Given the description of an element on the screen output the (x, y) to click on. 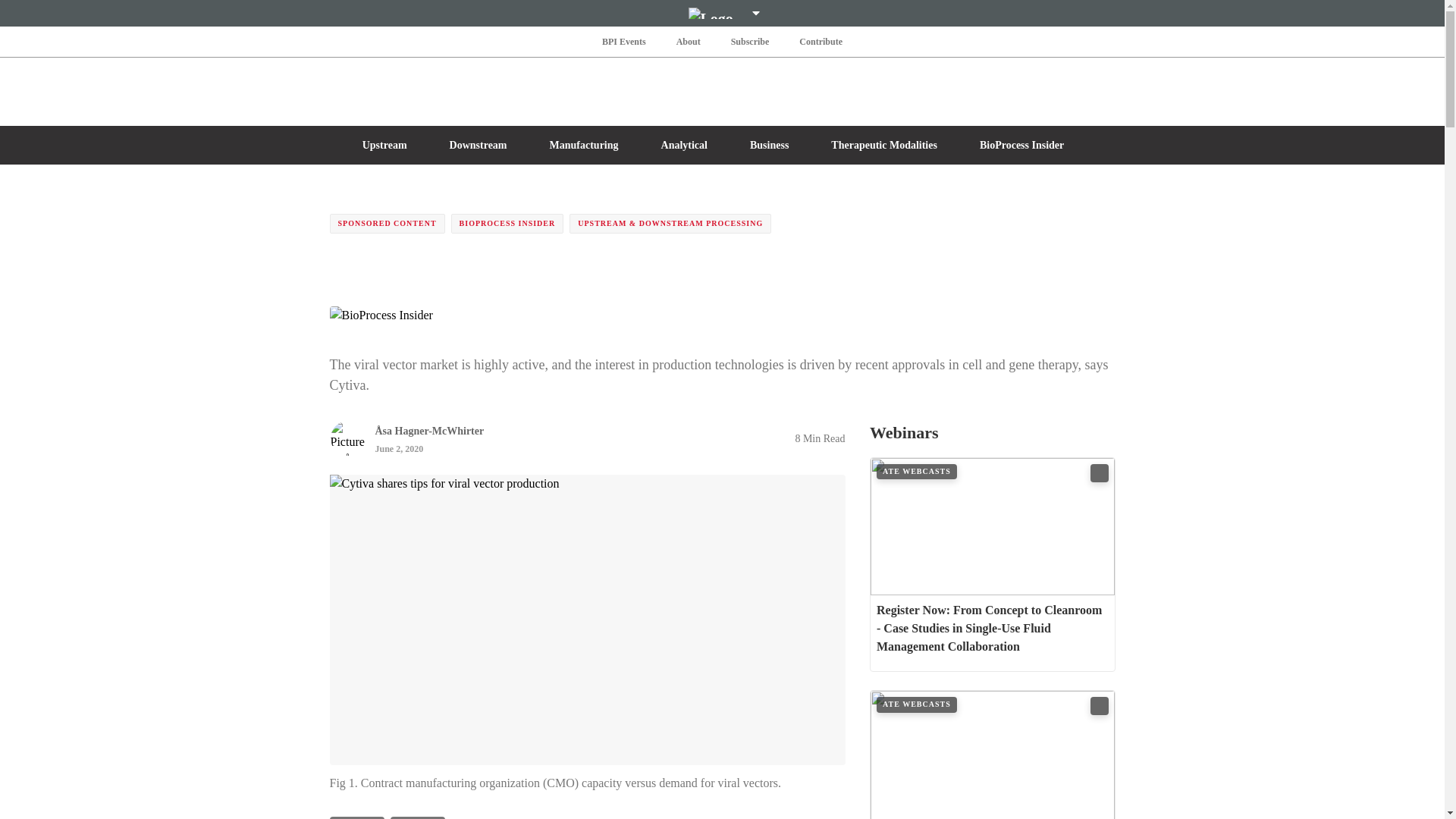
Contribute (820, 41)
Subscribe (750, 41)
BioProcess Insider (380, 315)
About (687, 41)
BPI Events (623, 41)
